Given the description of an element on the screen output the (x, y) to click on. 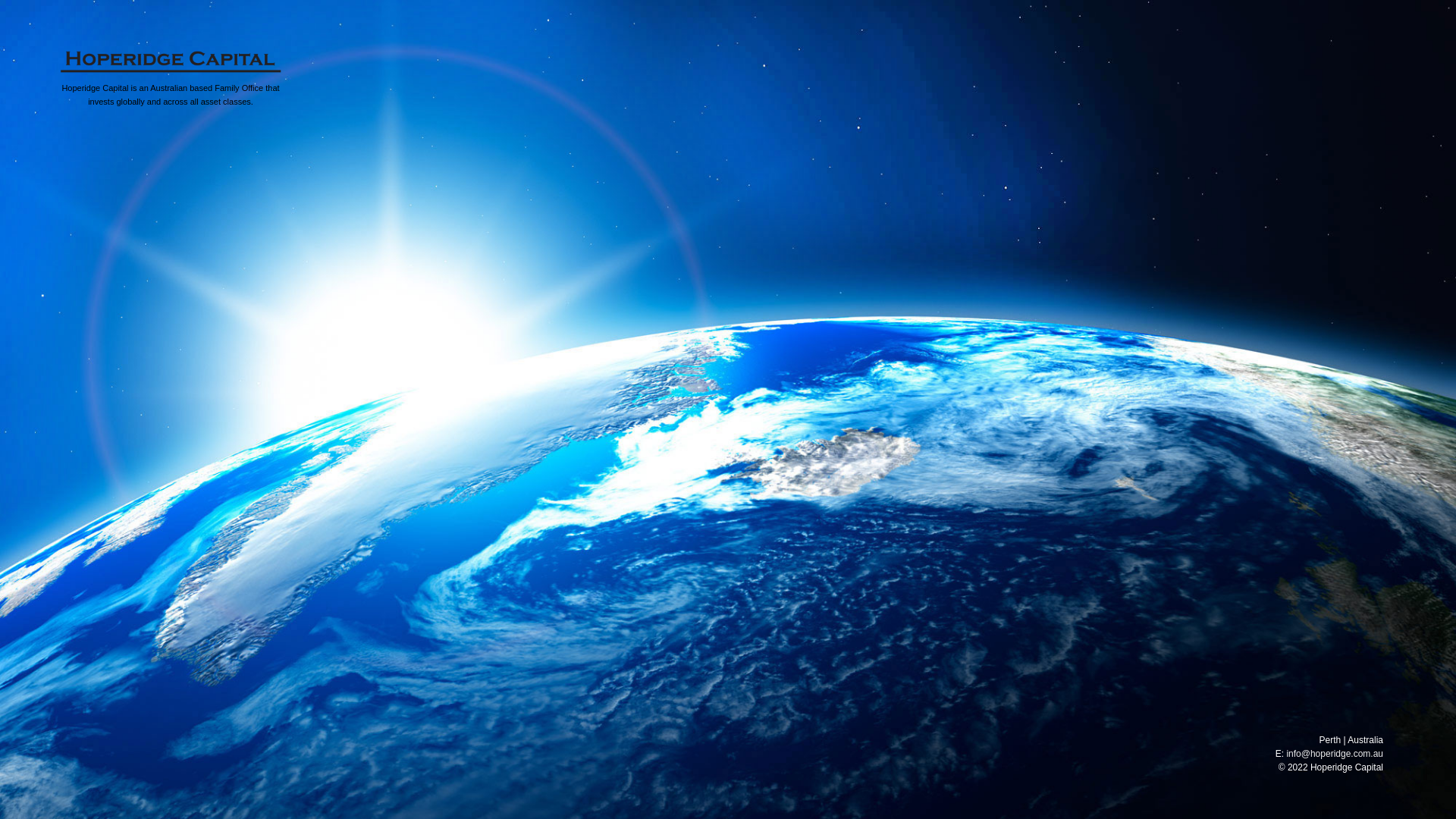
info@hoperidge.com.au Element type: text (1334, 753)
